Given the description of an element on the screen output the (x, y) to click on. 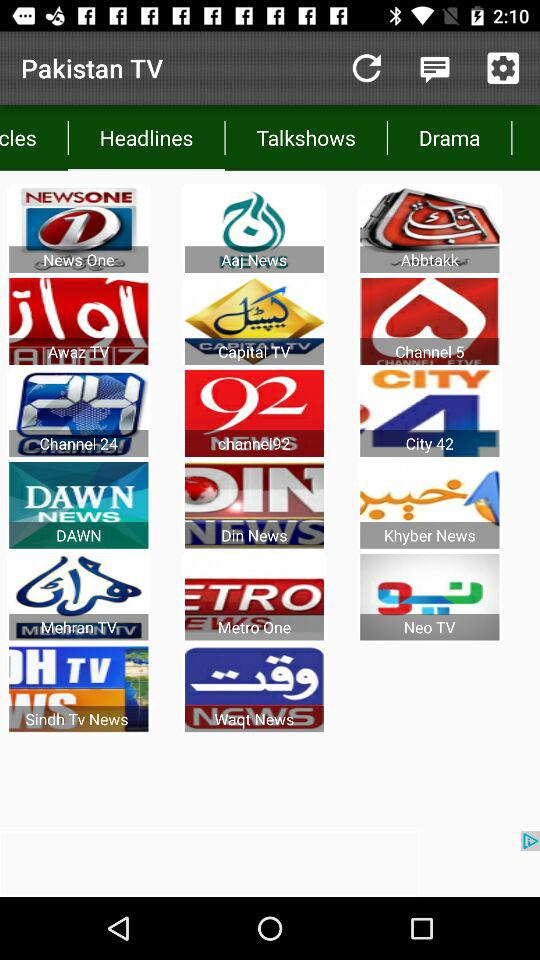
press the icon above the drama (434, 67)
